Given the description of an element on the screen output the (x, y) to click on. 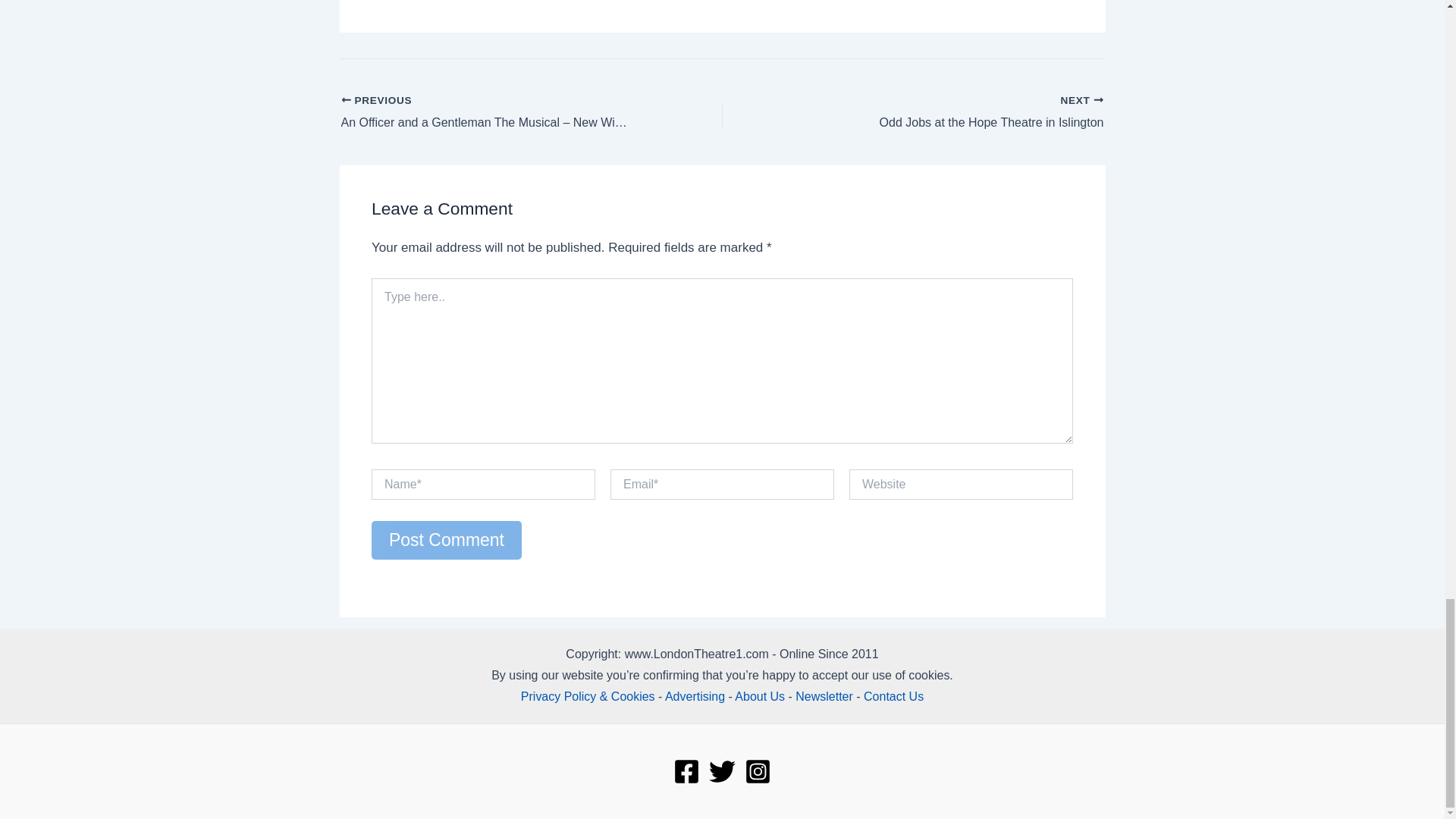
Post Comment (446, 539)
